Given the description of an element on the screen output the (x, y) to click on. 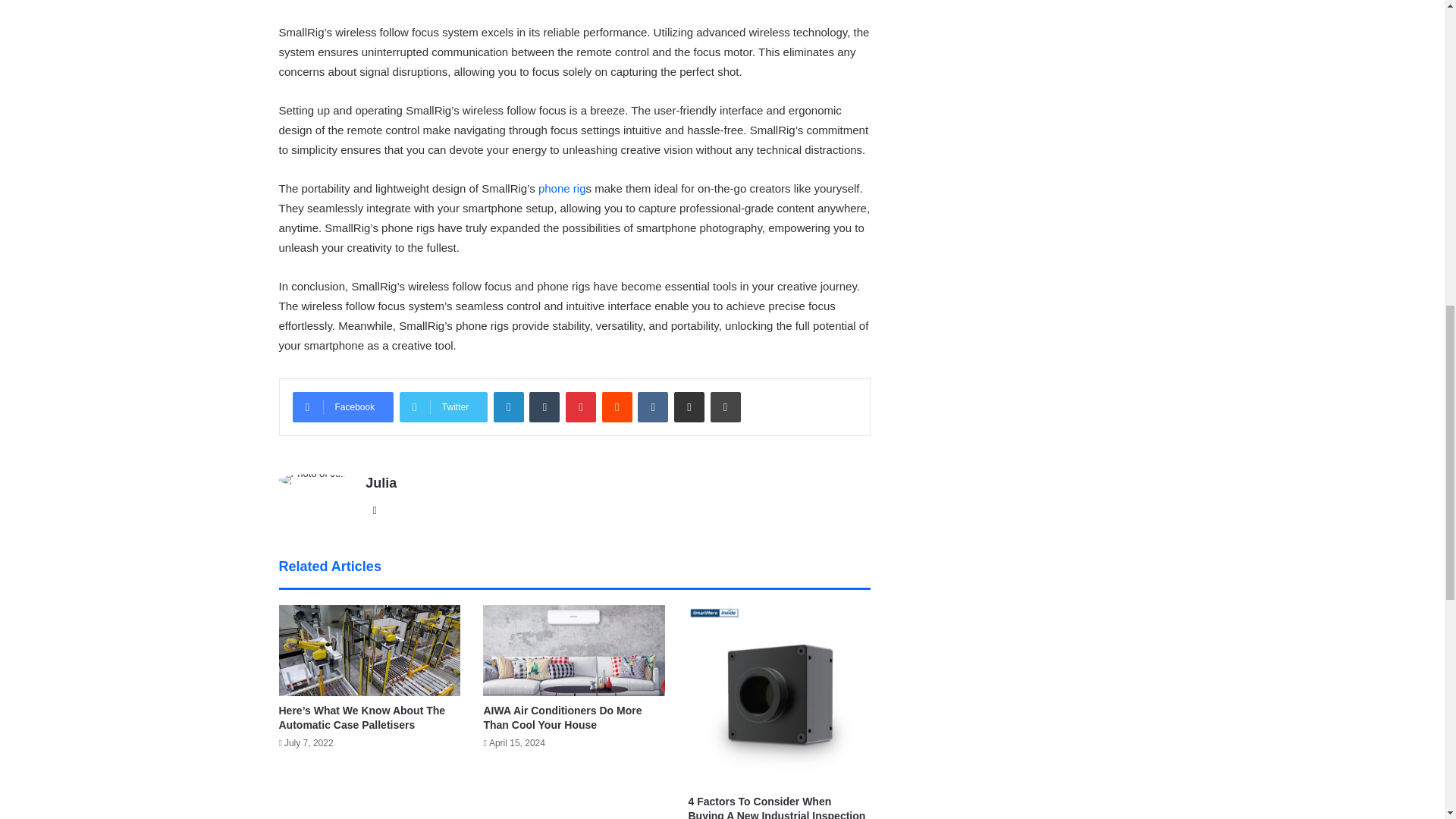
VKontakte (652, 407)
LinkedIn (508, 407)
Julia (380, 482)
VKontakte (652, 407)
AIWA Air Conditioners Do More Than Cool Your House (562, 717)
phone rig (562, 187)
Reddit (616, 407)
Facebook (343, 407)
Reddit (616, 407)
Print (725, 407)
Share via Email (689, 407)
Tumblr (544, 407)
Pinterest (580, 407)
Twitter (442, 407)
Website (374, 510)
